Given the description of an element on the screen output the (x, y) to click on. 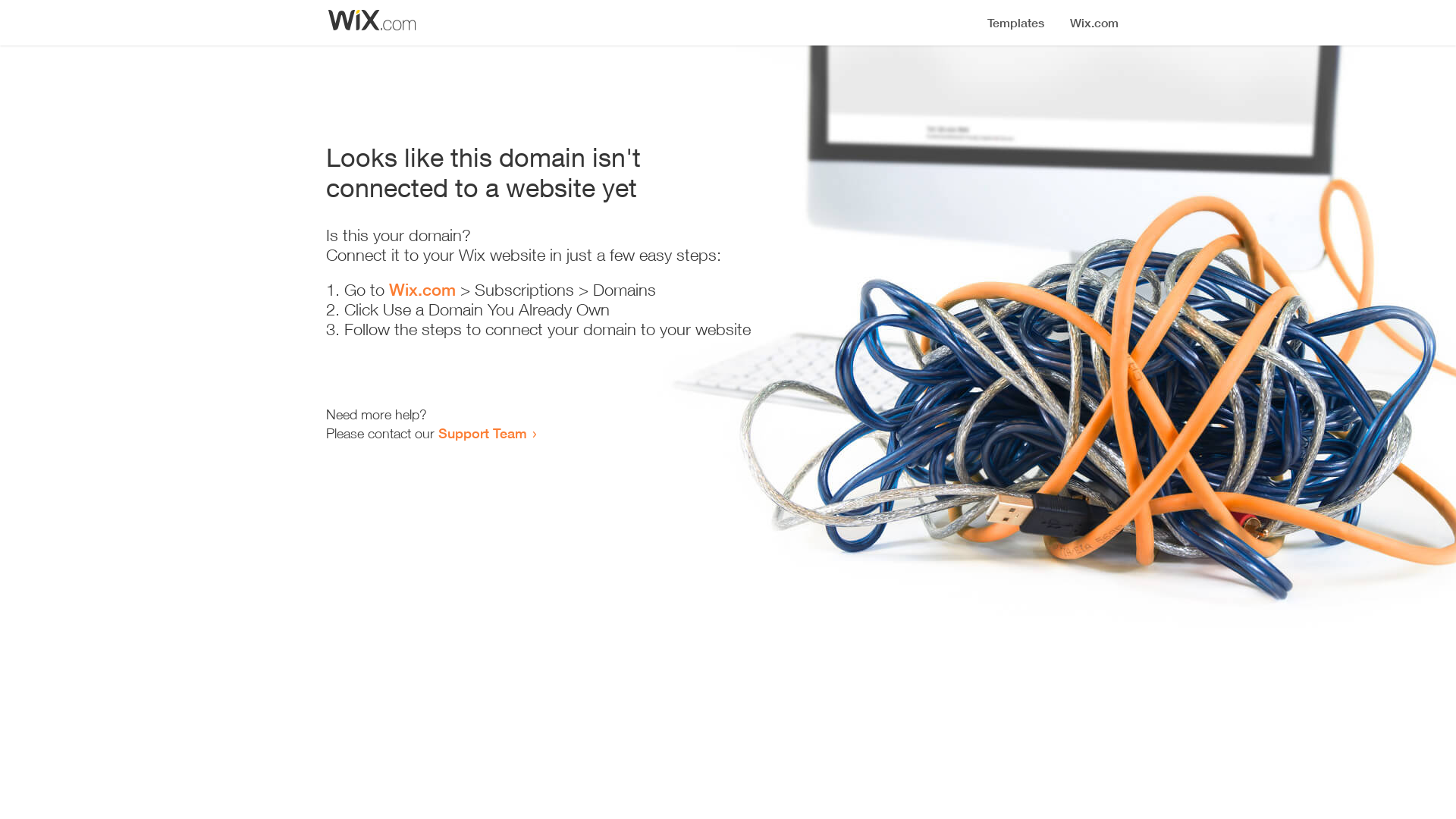
Support Team Element type: text (482, 432)
Wix.com Element type: text (422, 289)
